Given the description of an element on the screen output the (x, y) to click on. 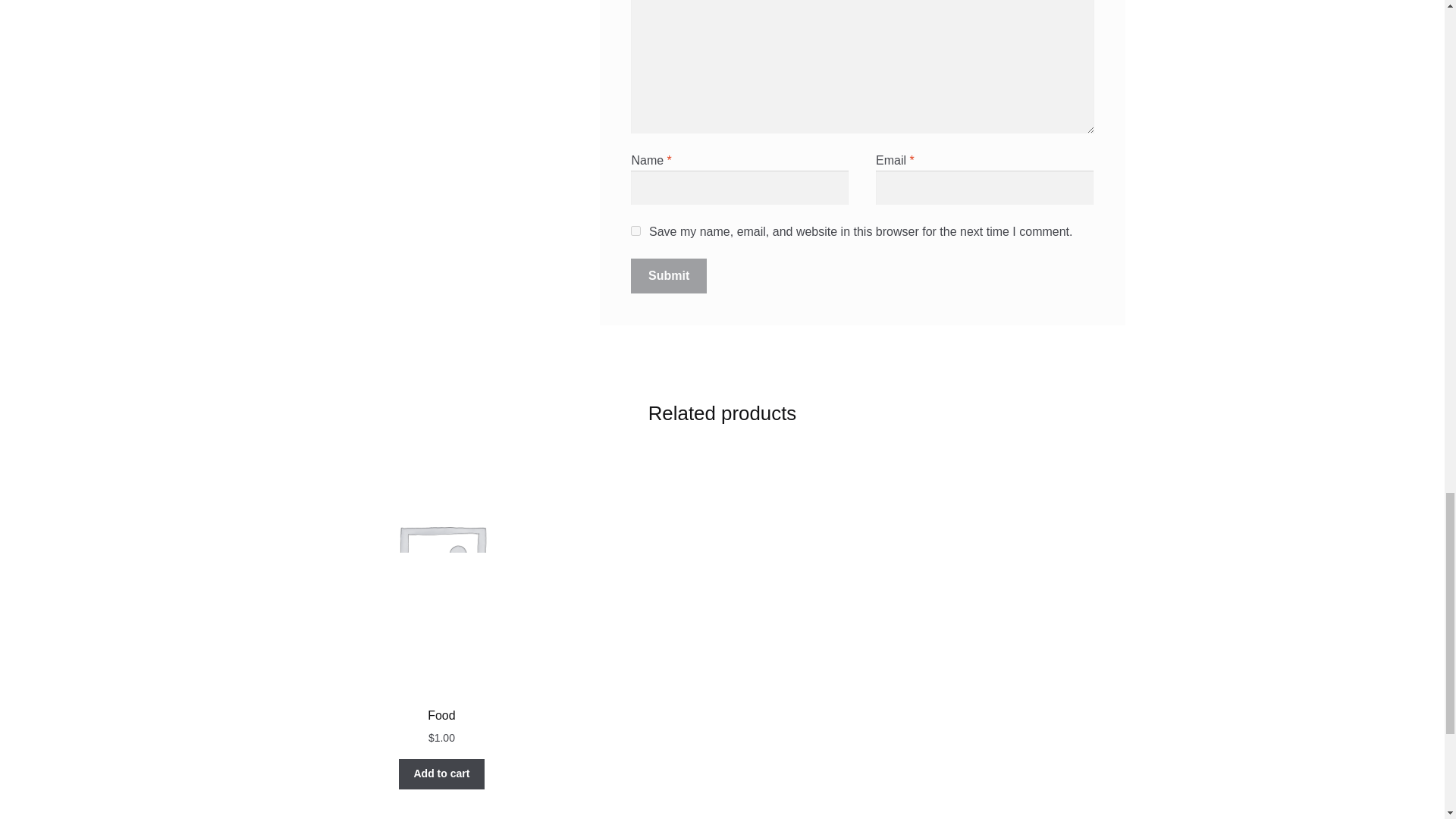
Add to cart (441, 774)
Submit (668, 275)
Submit (668, 275)
yes (635, 230)
